Given the description of an element on the screen output the (x, y) to click on. 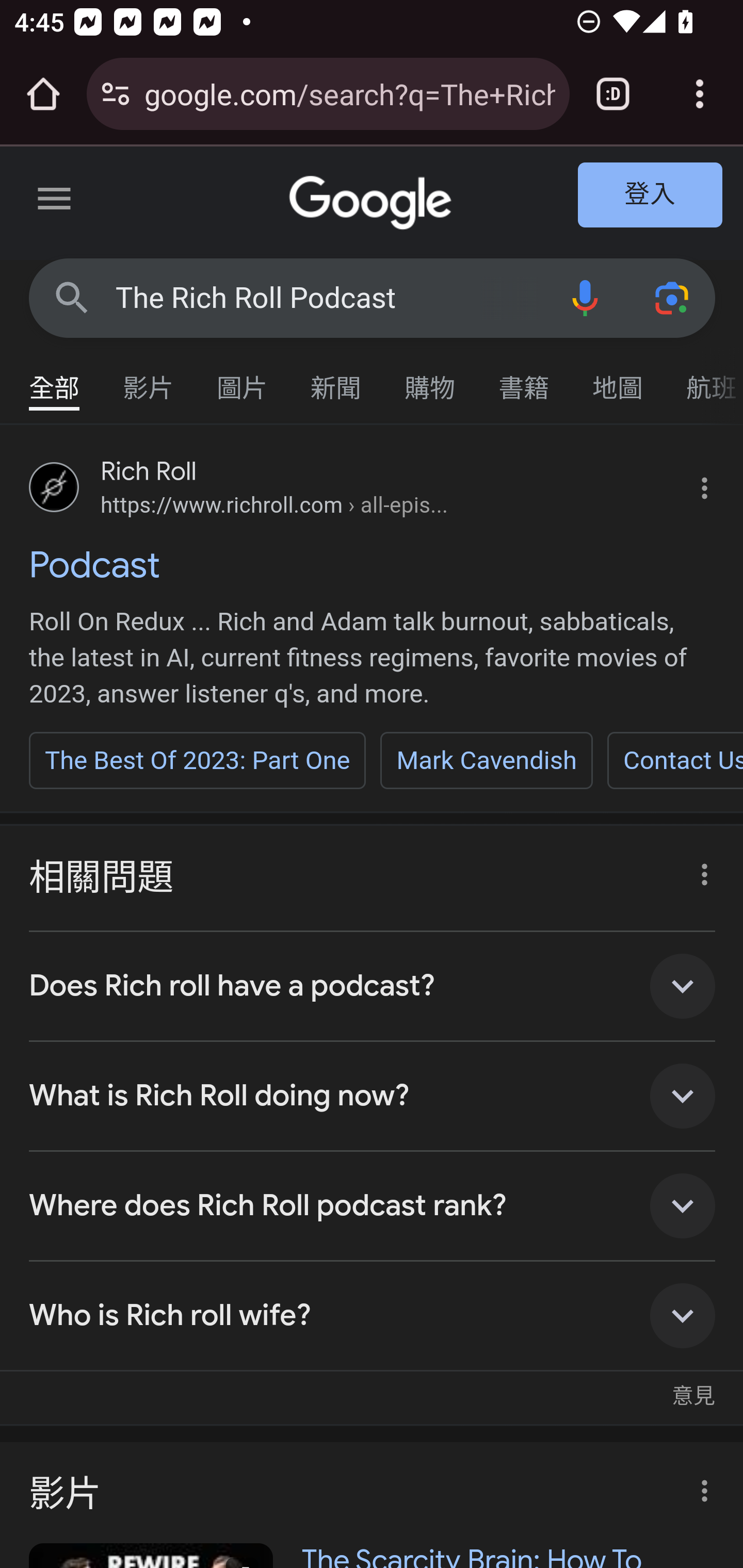
Open the home page (43, 93)
Connection is secure (115, 93)
Switch or close tabs (612, 93)
Customize and control Google Chrome (699, 93)
